Given the description of an element on the screen output the (x, y) to click on. 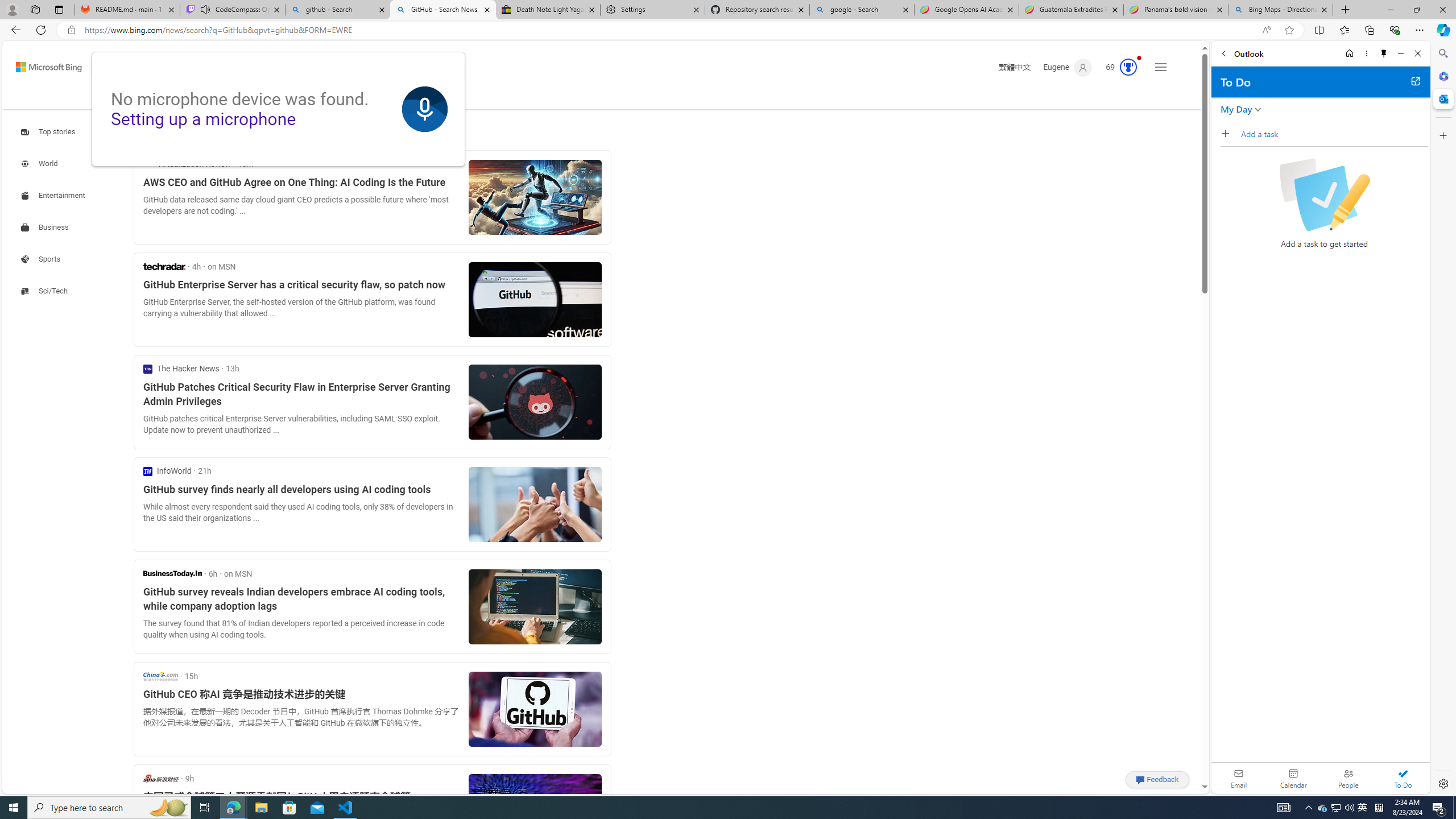
TechRadar (163, 266)
Settings (1442, 783)
Customize (1442, 135)
Setting up a microphone (203, 118)
Search news about World (40, 163)
Dropdown Menu (395, 96)
Search news about Business (46, 227)
To Do (1402, 777)
Search (1442, 53)
Search button (447, 66)
Any time (161, 132)
Home (1348, 53)
Favorites (1344, 29)
Split screen (1318, 29)
